Given the description of an element on the screen output the (x, y) to click on. 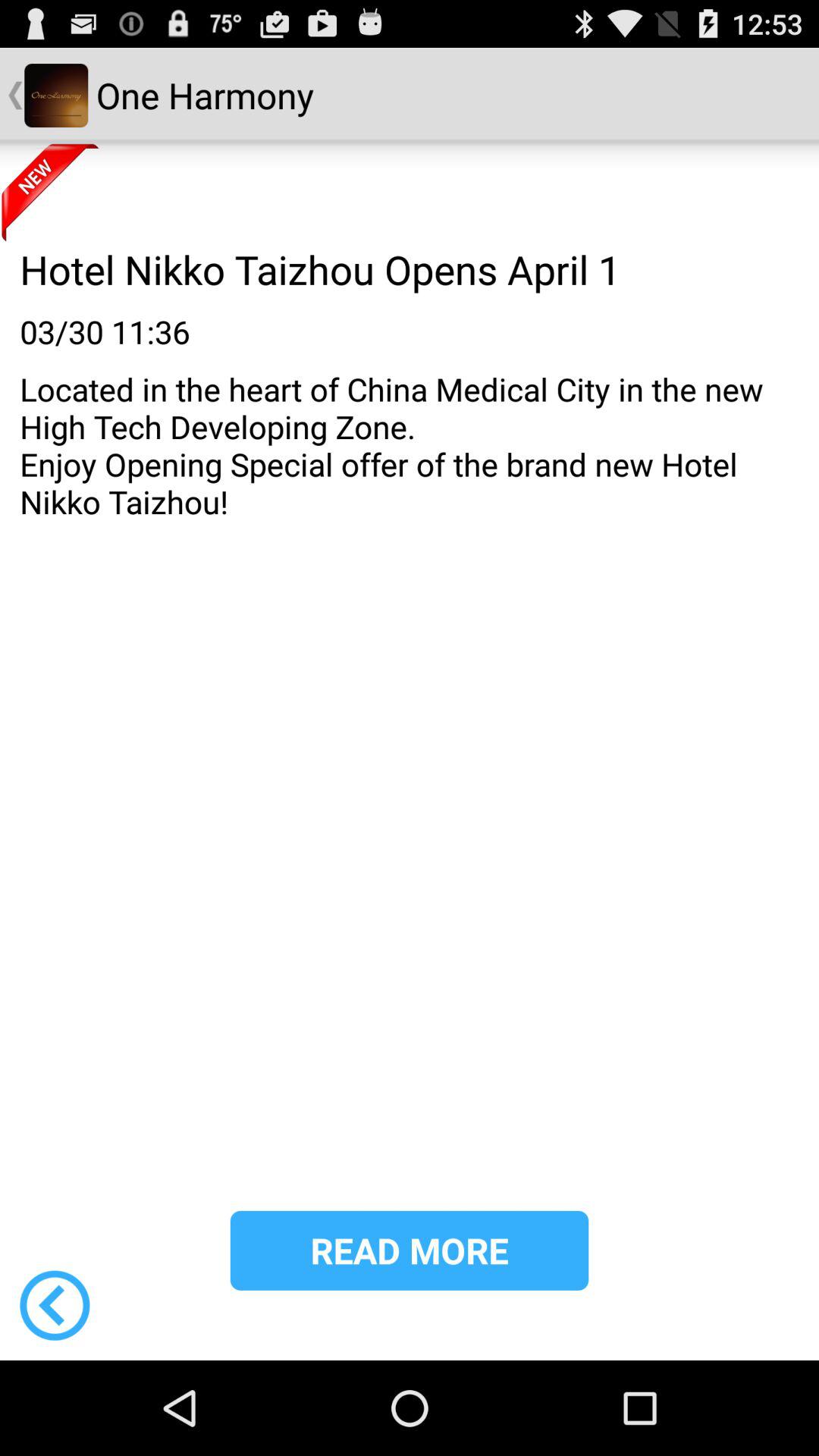
swipe to the read more item (409, 1250)
